Given the description of an element on the screen output the (x, y) to click on. 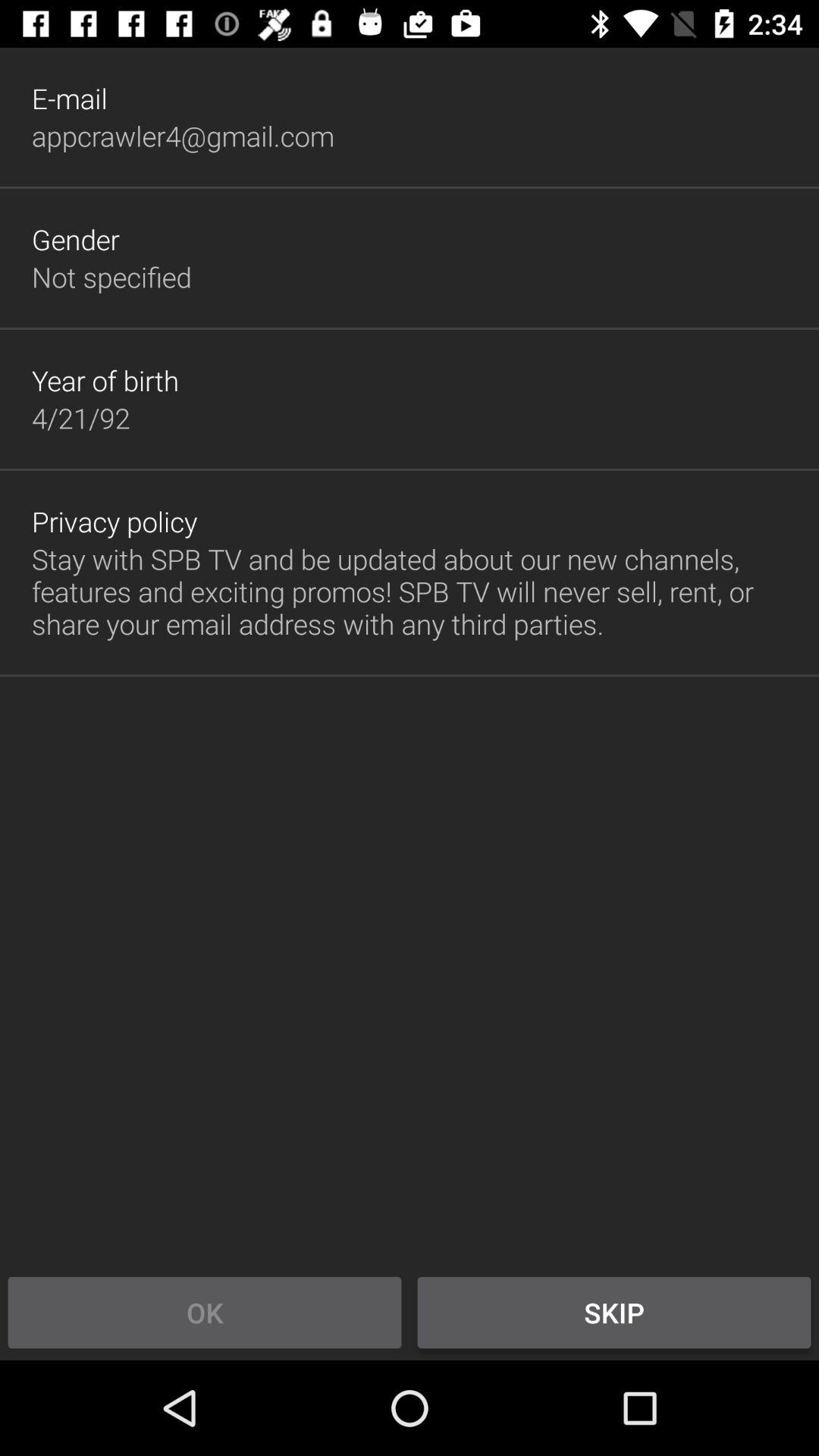
select the year of birth app (105, 380)
